Given the description of an element on the screen output the (x, y) to click on. 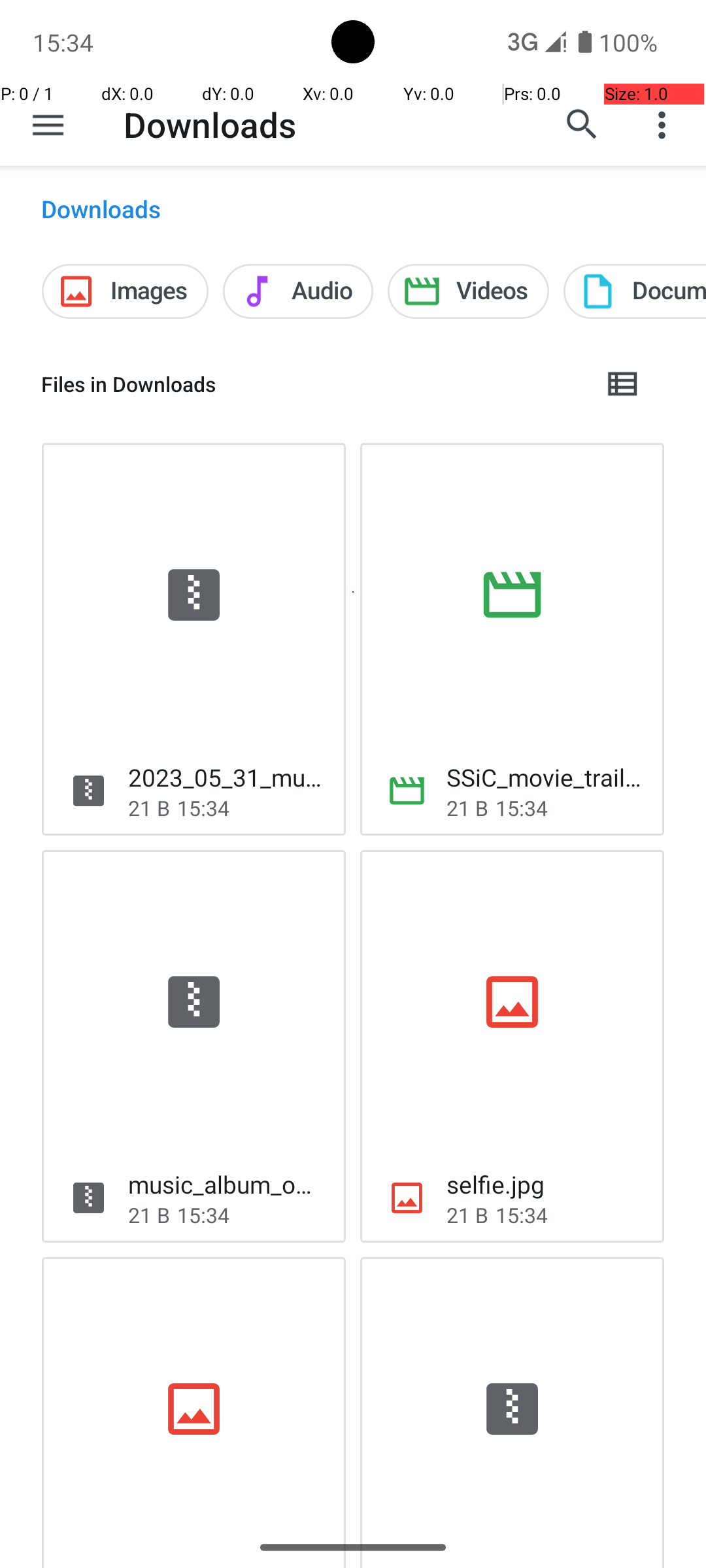
2023_05_31_music_album.zip Element type: android.widget.TextView (226, 776)
21 B Element type: android.widget.TextView (148, 807)
SSiC_movie_trailer.mp4 Element type: android.widget.TextView (544, 776)
music_album_oVRC.zip Element type: android.widget.TextView (226, 1183)
selfie.jpg Element type: android.widget.TextView (495, 1183)
